Given the description of an element on the screen output the (x, y) to click on. 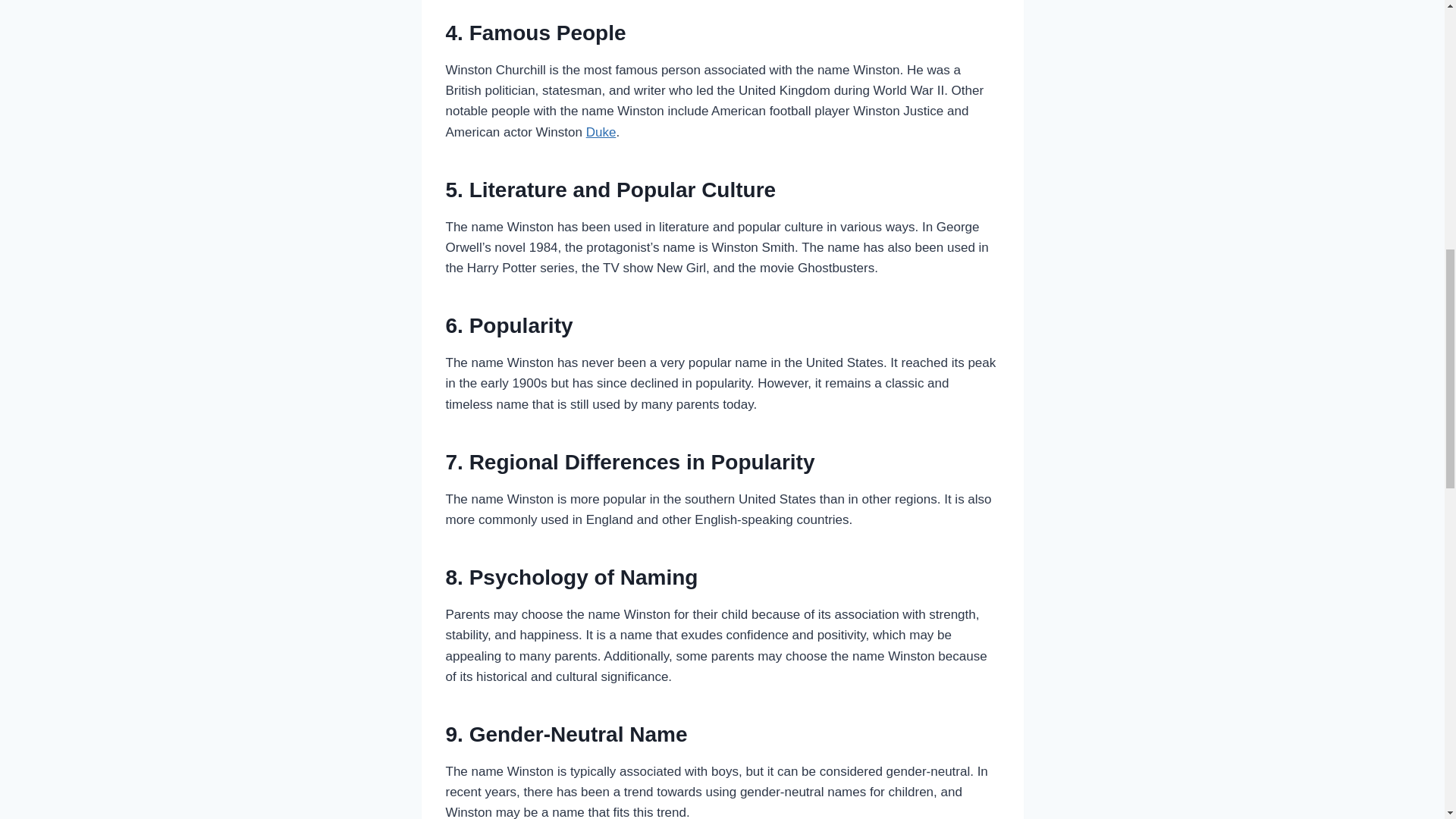
Duke (600, 132)
